Given the description of an element on the screen output the (x, y) to click on. 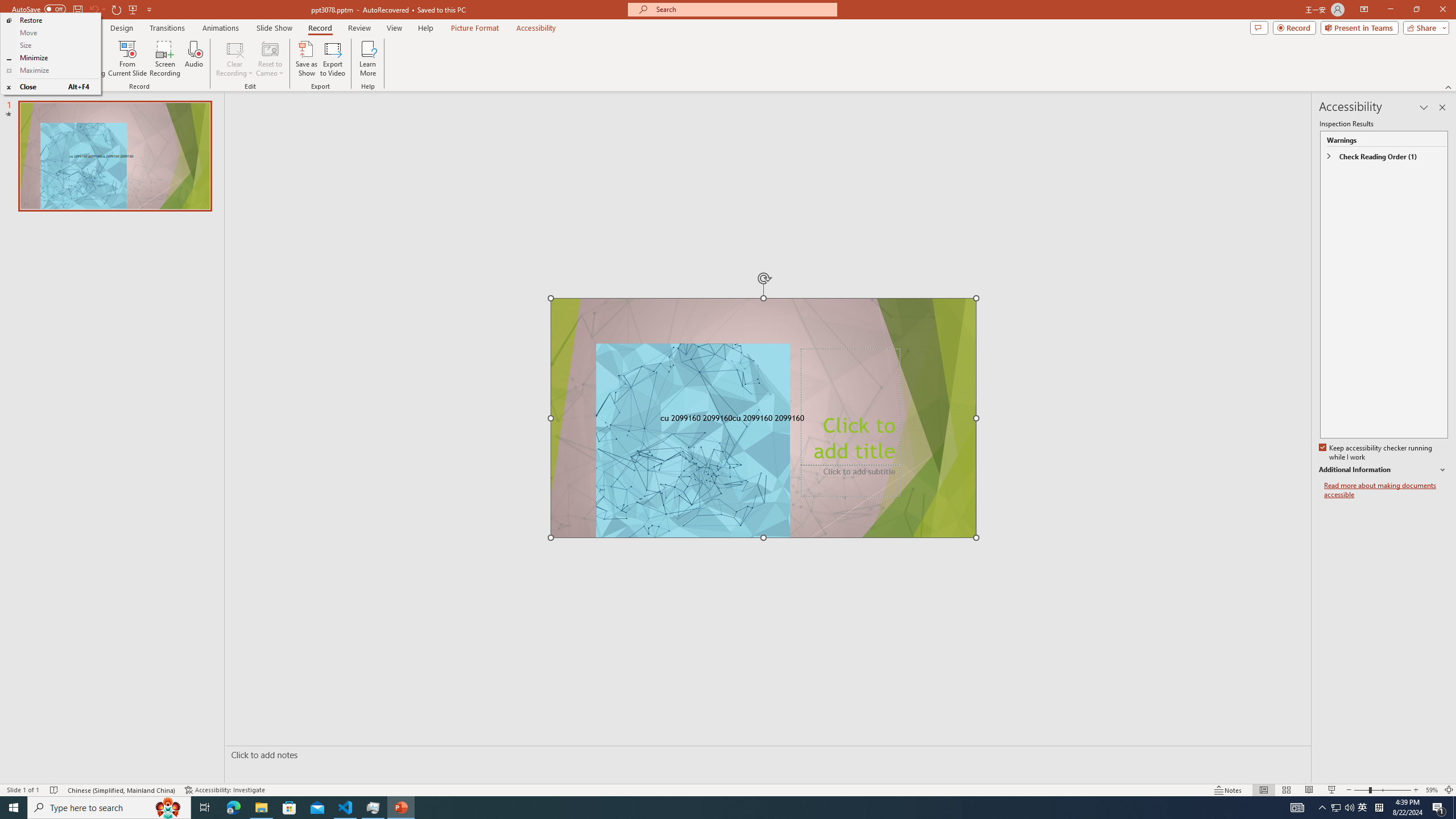
Restore (50, 20)
